Given the description of an element on the screen output the (x, y) to click on. 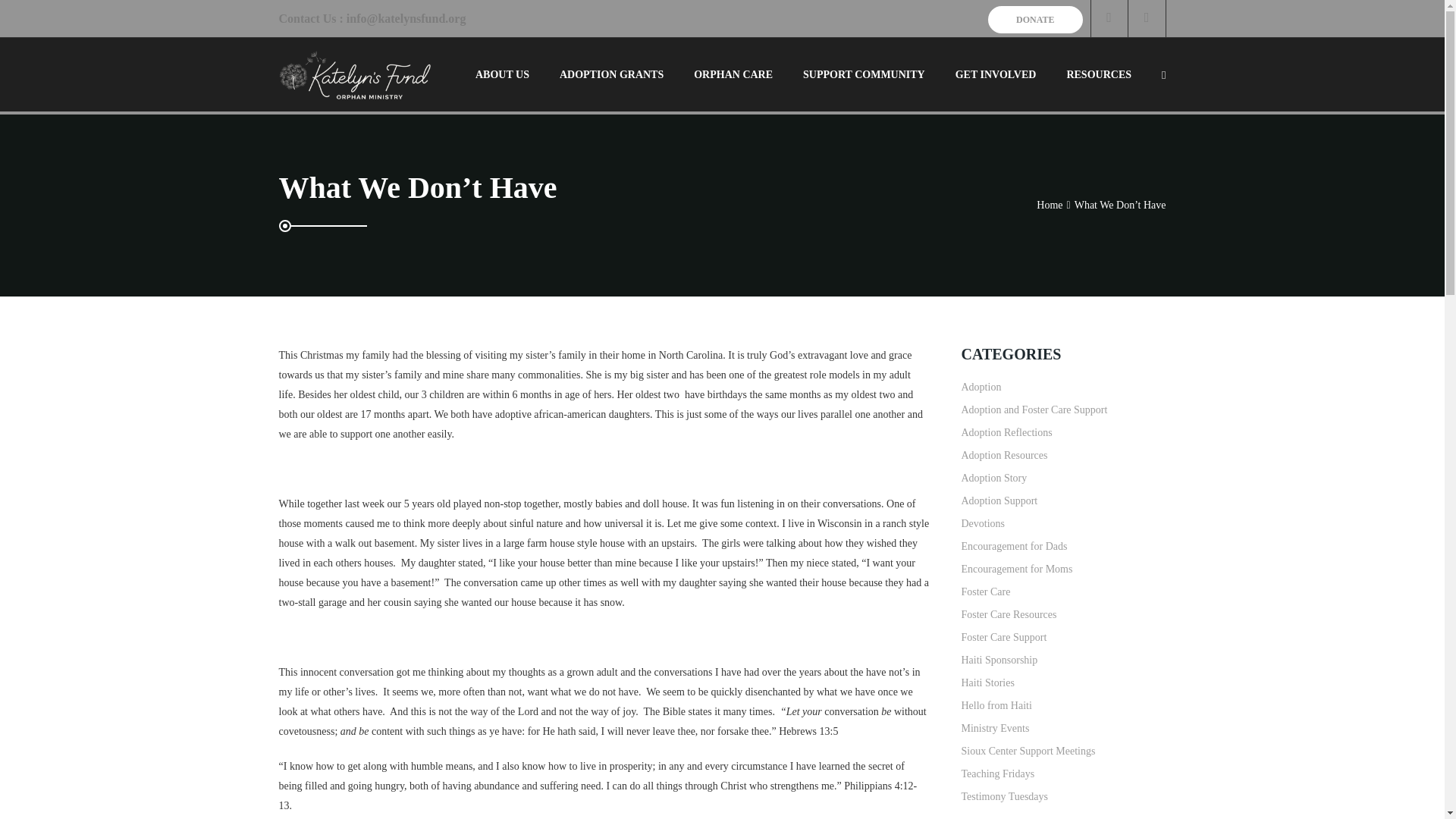
GET INVOLVED (995, 74)
Orphan Care (733, 74)
ABOUT US (502, 74)
SUPPORT COMMUNITY (863, 74)
About Us (502, 74)
ADOPTION GRANTS (611, 74)
Get Involved (995, 74)
Adoption Grants (611, 74)
RESOURCES (1098, 74)
Support Community (863, 74)
ORPHAN CARE (733, 74)
DONATE (1034, 19)
